Given the description of an element on the screen output the (x, y) to click on. 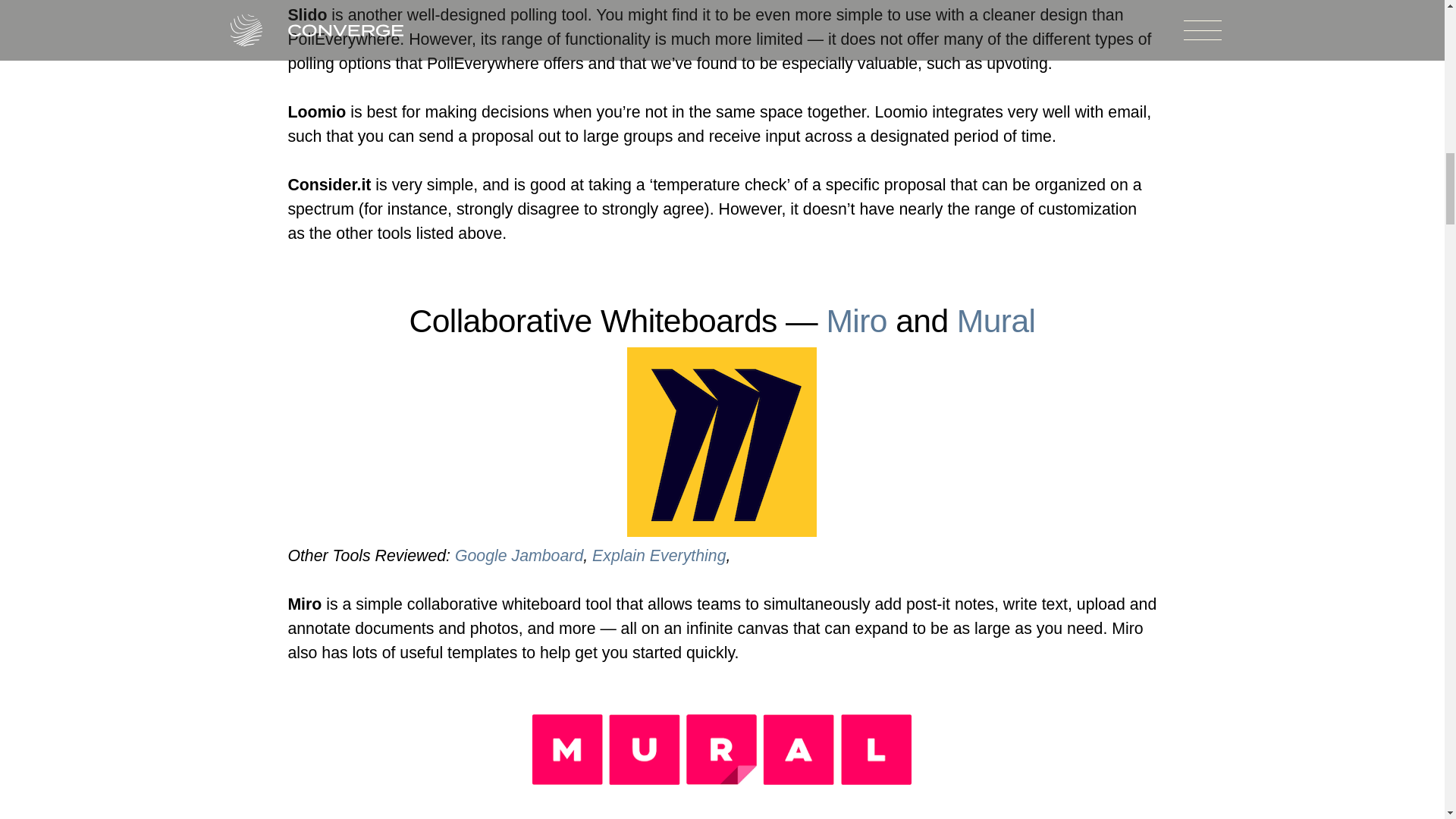
Google Jamboard (518, 556)
Explain Everything (658, 556)
Mural (995, 320)
Miro (855, 320)
